Given the description of an element on the screen output the (x, y) to click on. 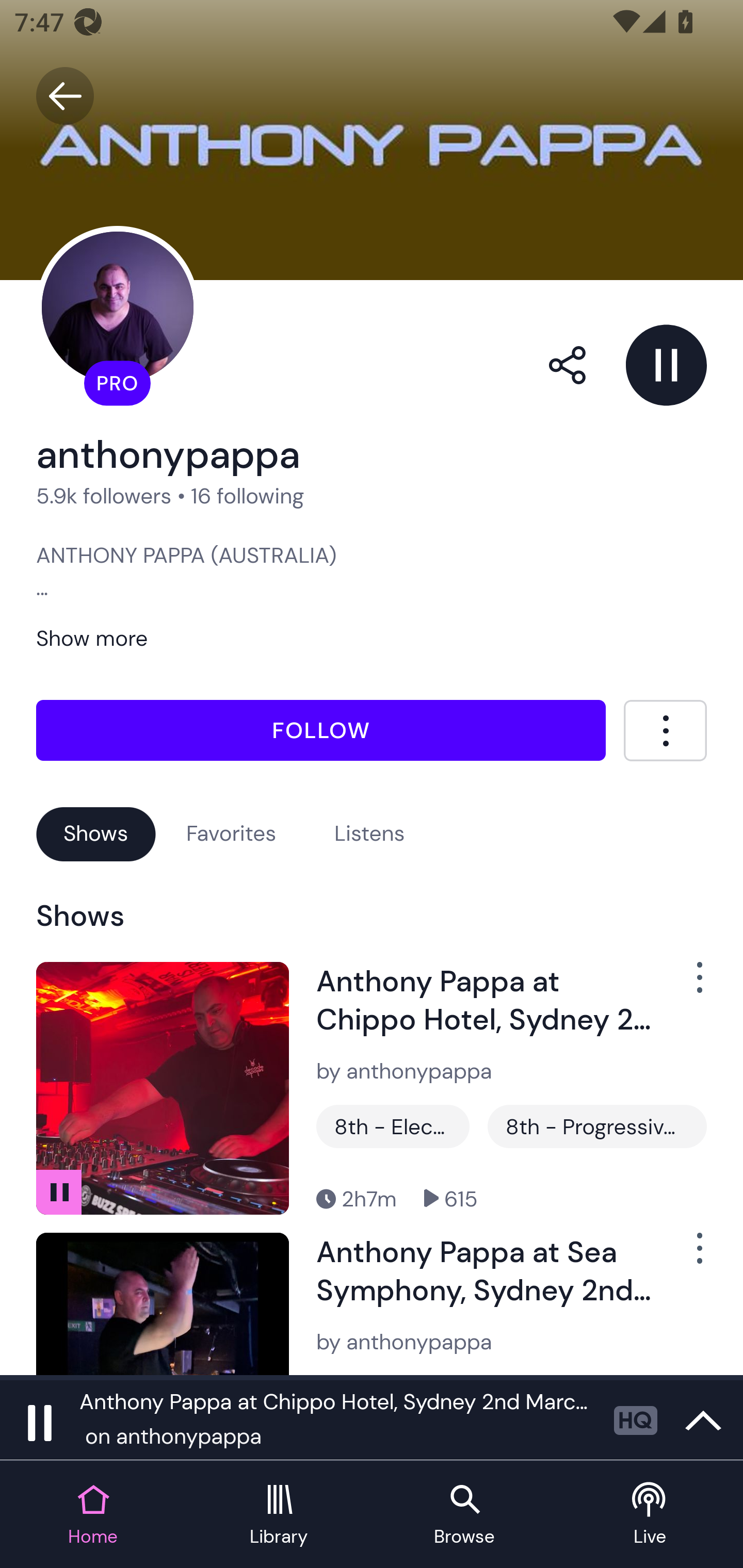
5.9k followers (103, 495)
16 following (247, 495)
Follow FOLLOW (320, 729)
More Menu (665, 730)
Shows (95, 832)
Favorites (231, 832)
Listens (369, 832)
Show Options Menu Button (688, 984)
8th - Electronic (392, 1126)
8th - Progressive House (596, 1126)
Show Options Menu Button (688, 1255)
Home tab Home (92, 1515)
Library tab Library (278, 1515)
Browse tab Browse (464, 1515)
Live tab Live (650, 1515)
